Given the description of an element on the screen output the (x, y) to click on. 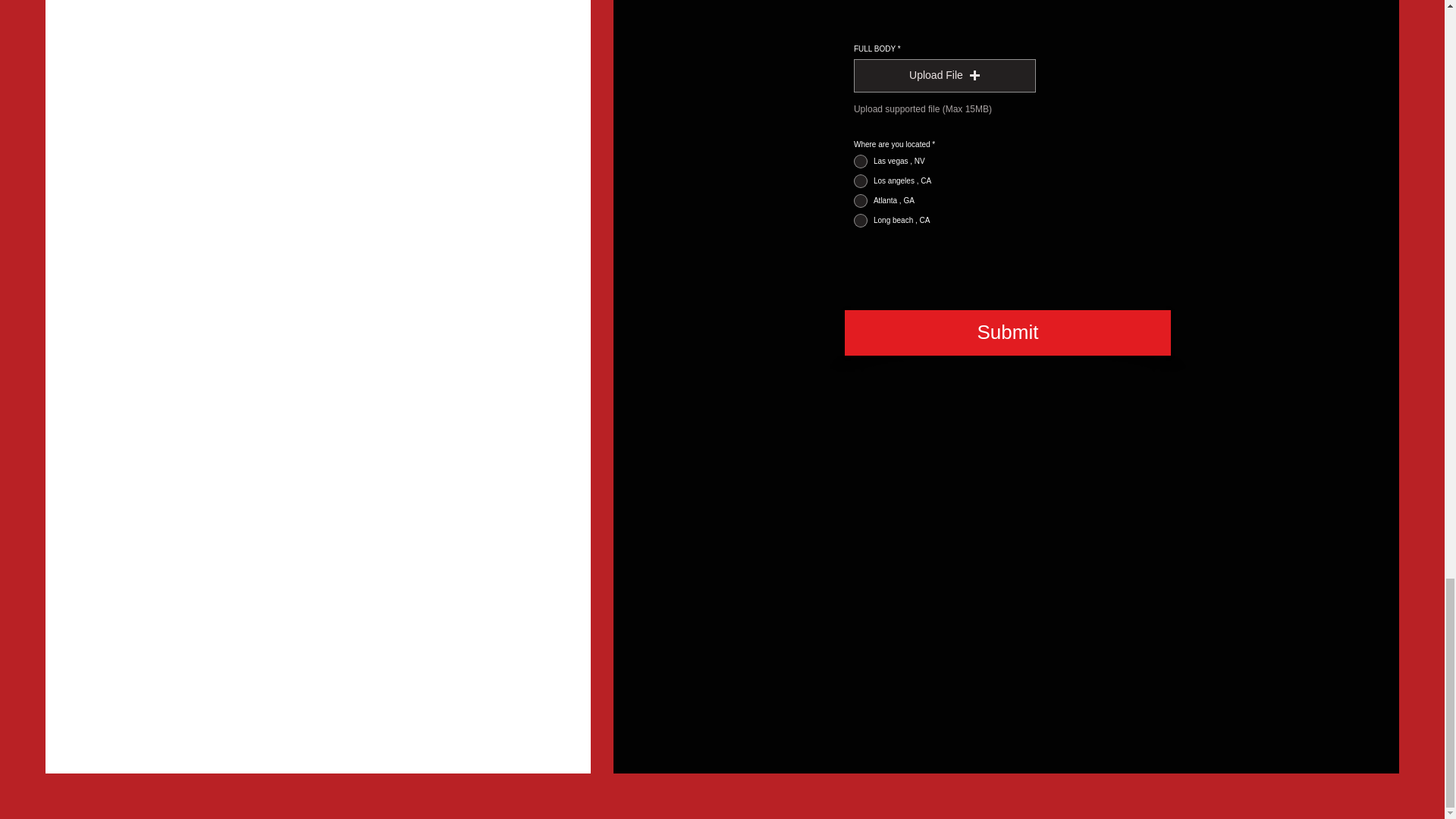
Submit (1007, 331)
